Given the description of an element on the screen output the (x, y) to click on. 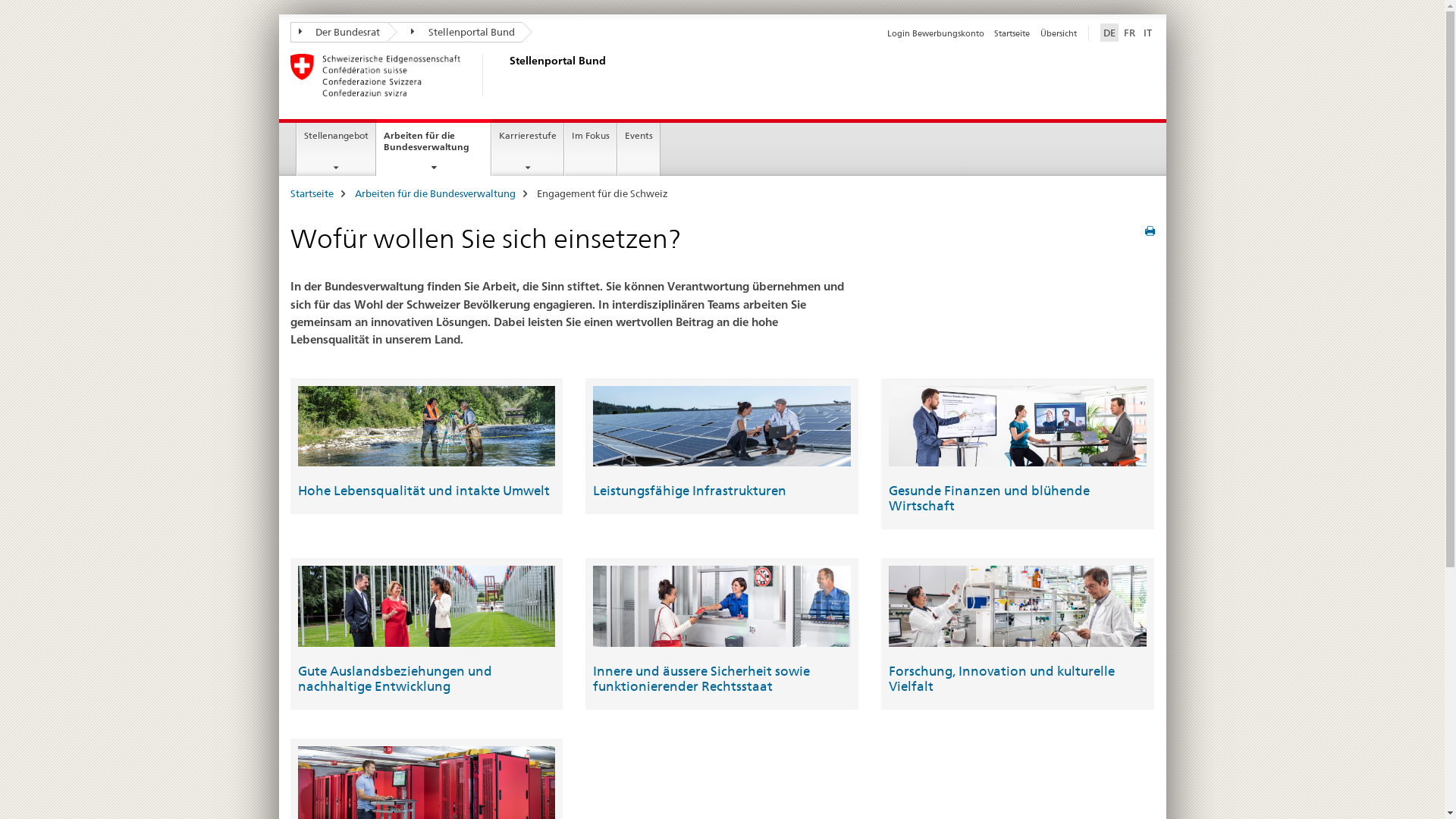
DE Element type: text (1108, 32)
Login Bewerbungskonto Element type: text (935, 33)
Stellenportal Bund Element type: text (505, 74)
Karrierestufe Element type: text (527, 148)
Stellenangebot Element type: text (336, 148)
Der Bundesrat Element type: text (338, 31)
Forschung, Innovation und kulturelle Vielfalt Element type: text (1001, 678)
Stellenportal Bund Element type: text (454, 31)
FR Element type: text (1129, 32)
Im Fokus Element type: text (590, 148)
Startseite Element type: text (310, 193)
Gute Auslandsbeziehungen und nachhaltige Entwicklung Element type: text (394, 678)
Events Element type: text (638, 148)
IT Element type: text (1147, 32)
Startseite Element type: text (1011, 33)
Seite drucken Element type: hover (1149, 230)
